Given the description of an element on the screen output the (x, y) to click on. 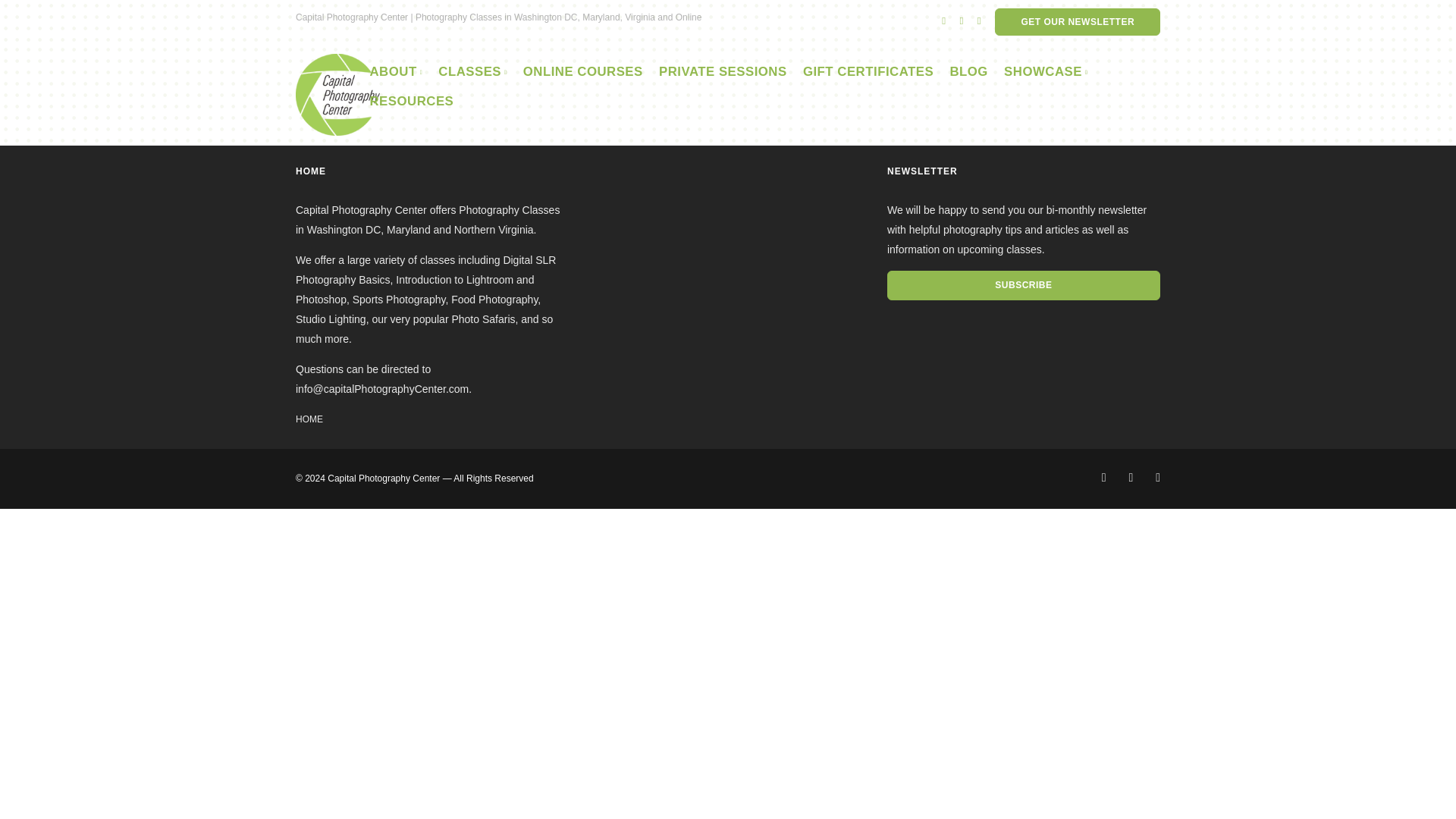
RESOURCES (410, 101)
BLOG (968, 71)
SUBSCRIBE (1022, 284)
SUBSCRIBE (1023, 285)
ONLINE COURSES (582, 71)
GET OUR NEWSLETTER (1077, 21)
GIFT CERTIFICATES (868, 71)
PRIVATE SESSIONS (723, 71)
HOME (309, 419)
